Given the description of an element on the screen output the (x, y) to click on. 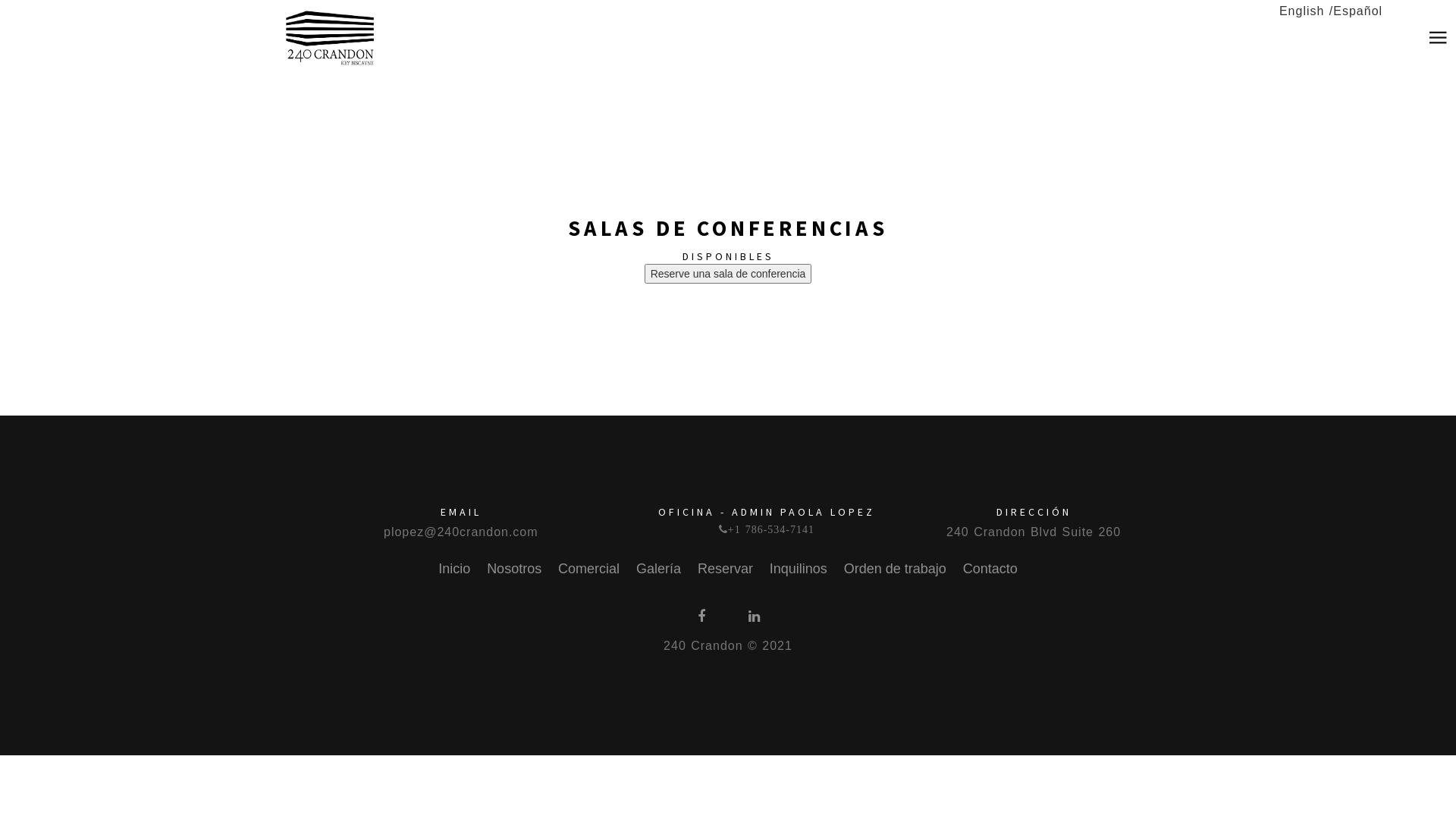
Contacto Element type: text (990, 568)
Reservar Element type: text (724, 568)
Inicio Element type: text (453, 568)
Nosotros Element type: text (514, 568)
Comercial Element type: text (588, 568)
Inquilinos Element type: text (798, 568)
English / Element type: text (1306, 10)
Orden de trabajo Element type: text (895, 568)
